Given the description of an element on the screen output the (x, y) to click on. 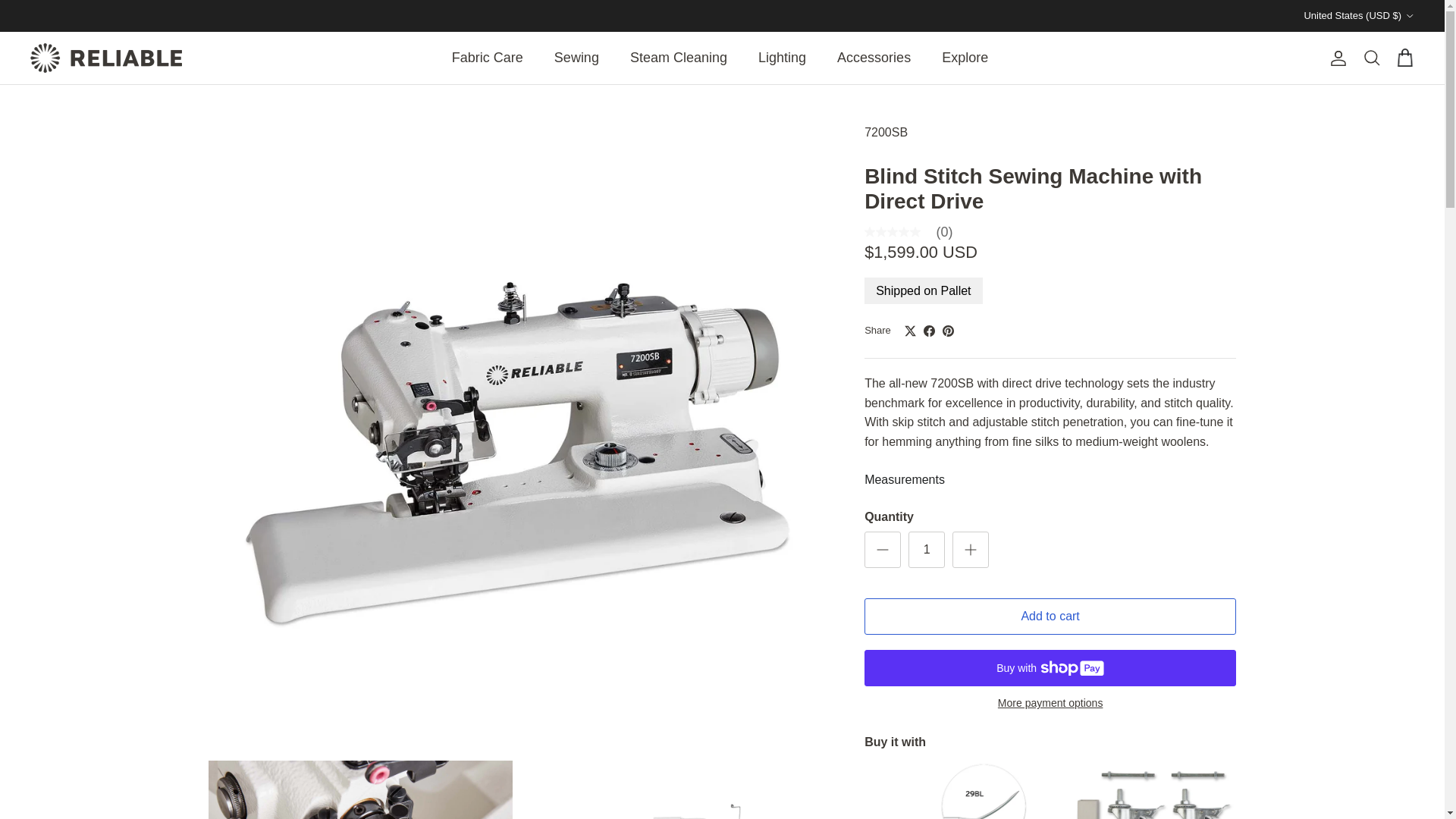
Steam Cleaning (678, 57)
Cart (1404, 57)
Accessories (874, 57)
Tweet on X (909, 330)
Sewing (576, 57)
Account (1335, 58)
Search (1371, 57)
reliablecorporation.com (106, 57)
Pin on Pinterest (947, 330)
1 (926, 549)
Share on Facebook (928, 330)
Fabric Care (487, 57)
Explore (964, 57)
Lighting (781, 57)
